Given the description of an element on the screen output the (x, y) to click on. 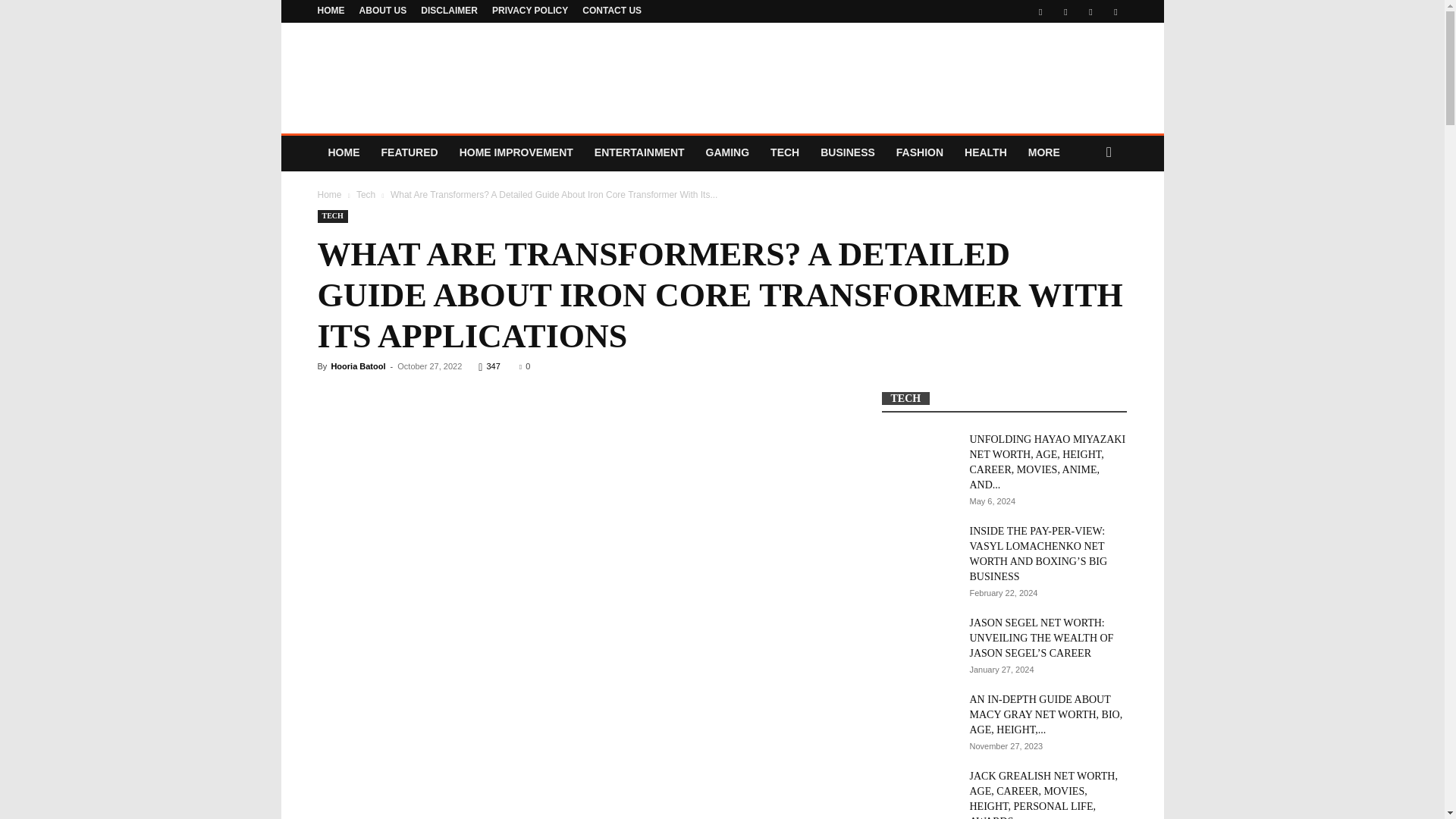
Youtube (1114, 11)
Twitter (1065, 11)
PRIVACY POLICY (529, 9)
DISCLAIMER (448, 9)
CONTACT US (612, 9)
Facebook (1040, 11)
HOME (330, 9)
View all posts in Tech (365, 194)
VKontakte (1090, 11)
ABOUT US (383, 9)
